Given the description of an element on the screen output the (x, y) to click on. 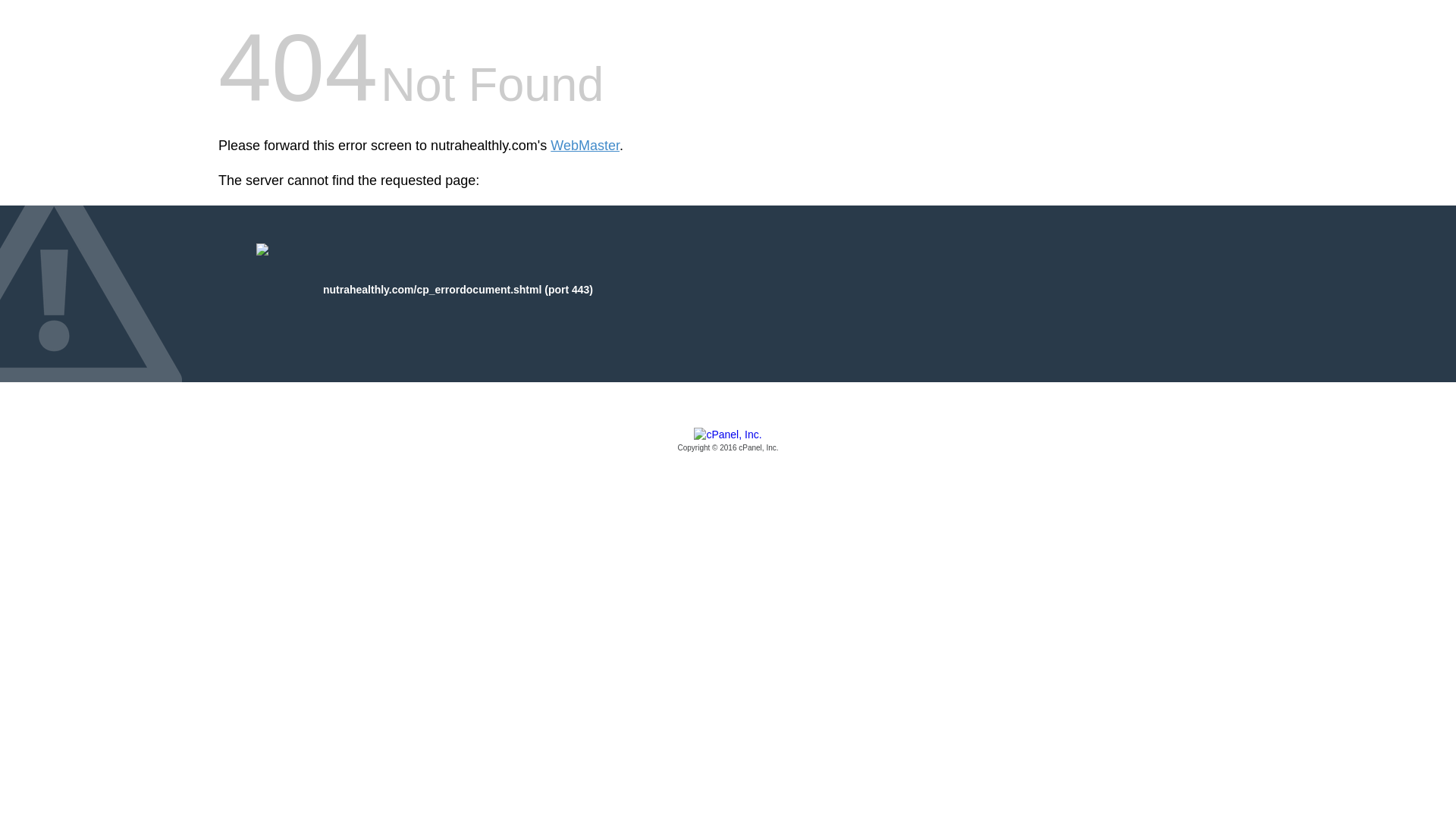
WebMaster (585, 145)
cPanel, Inc. (727, 440)
